Given the description of an element on the screen output the (x, y) to click on. 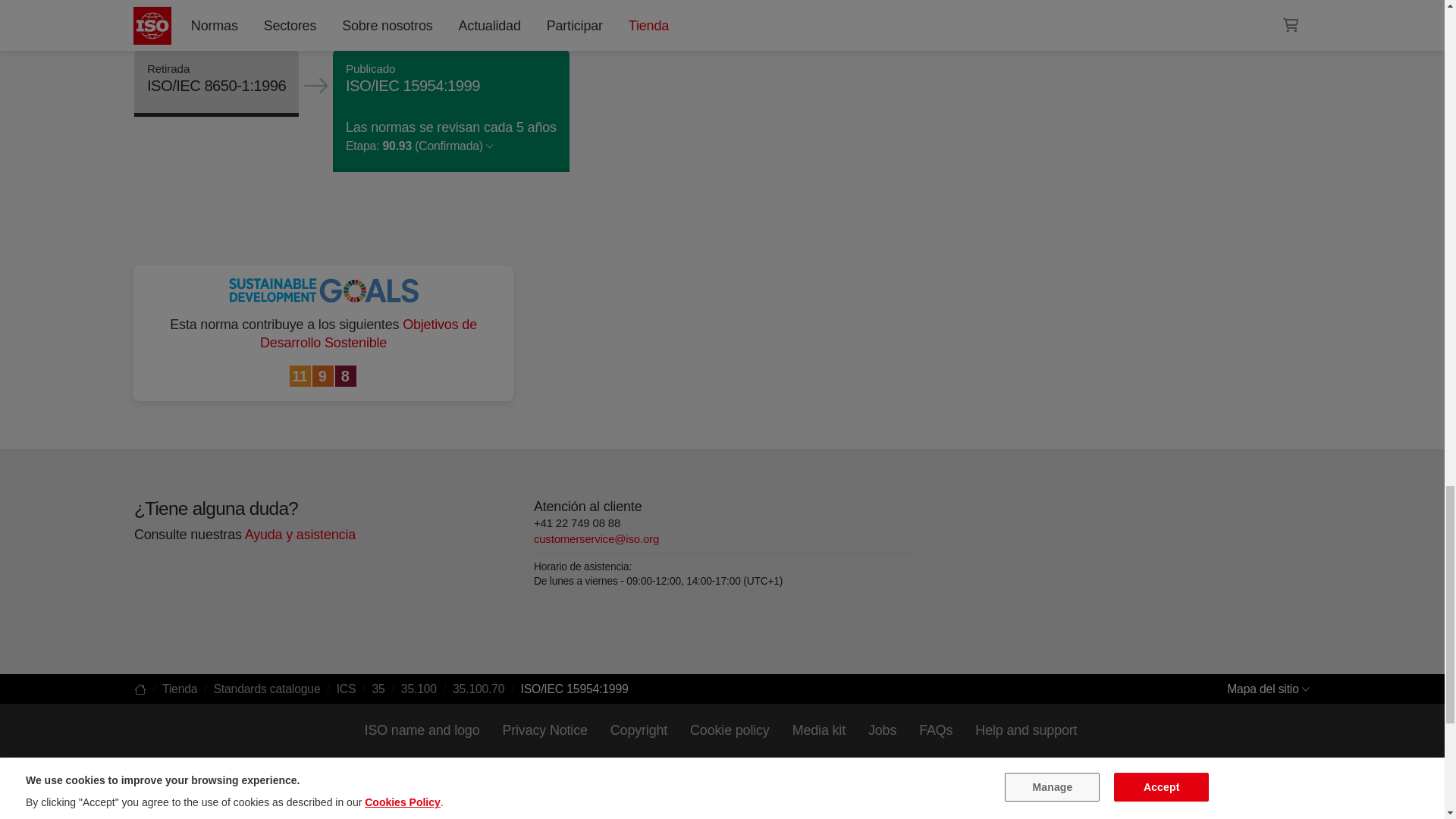
Sustainable Cities and Communities (301, 376)
